Given the description of an element on the screen output the (x, y) to click on. 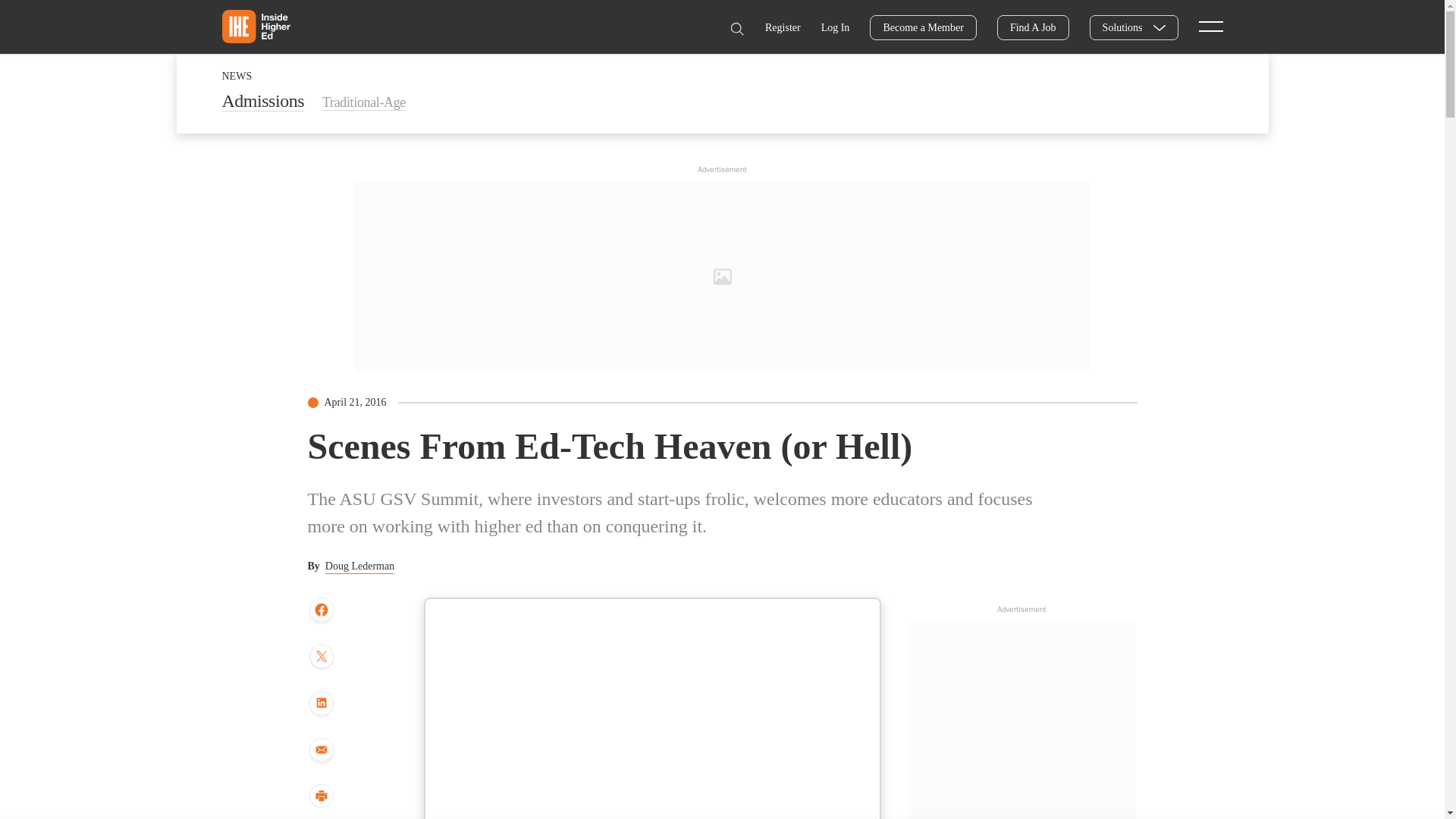
share by email (320, 750)
Search (736, 28)
Become a Member (922, 27)
share to Linkedin (320, 704)
Home (255, 26)
share to twitter (320, 657)
Find A Job (1032, 27)
share to facebook (320, 610)
